Given the description of an element on the screen output the (x, y) to click on. 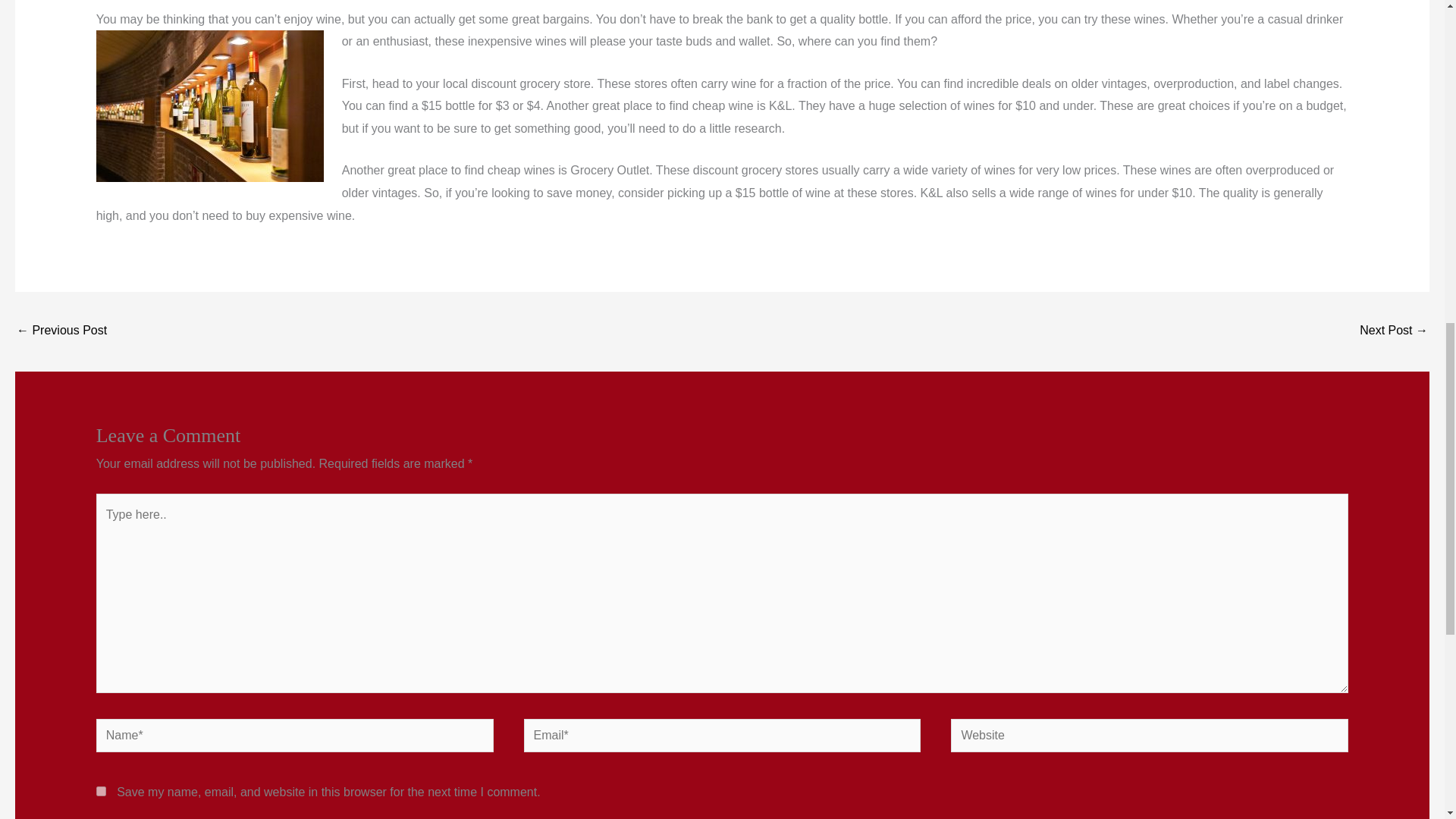
yes (101, 791)
15 Must-Have Kitchen Tools to Cook Like a Pro (61, 331)
Restaurant Food Prices Guide for Starters (1393, 331)
